Given the description of an element on the screen output the (x, y) to click on. 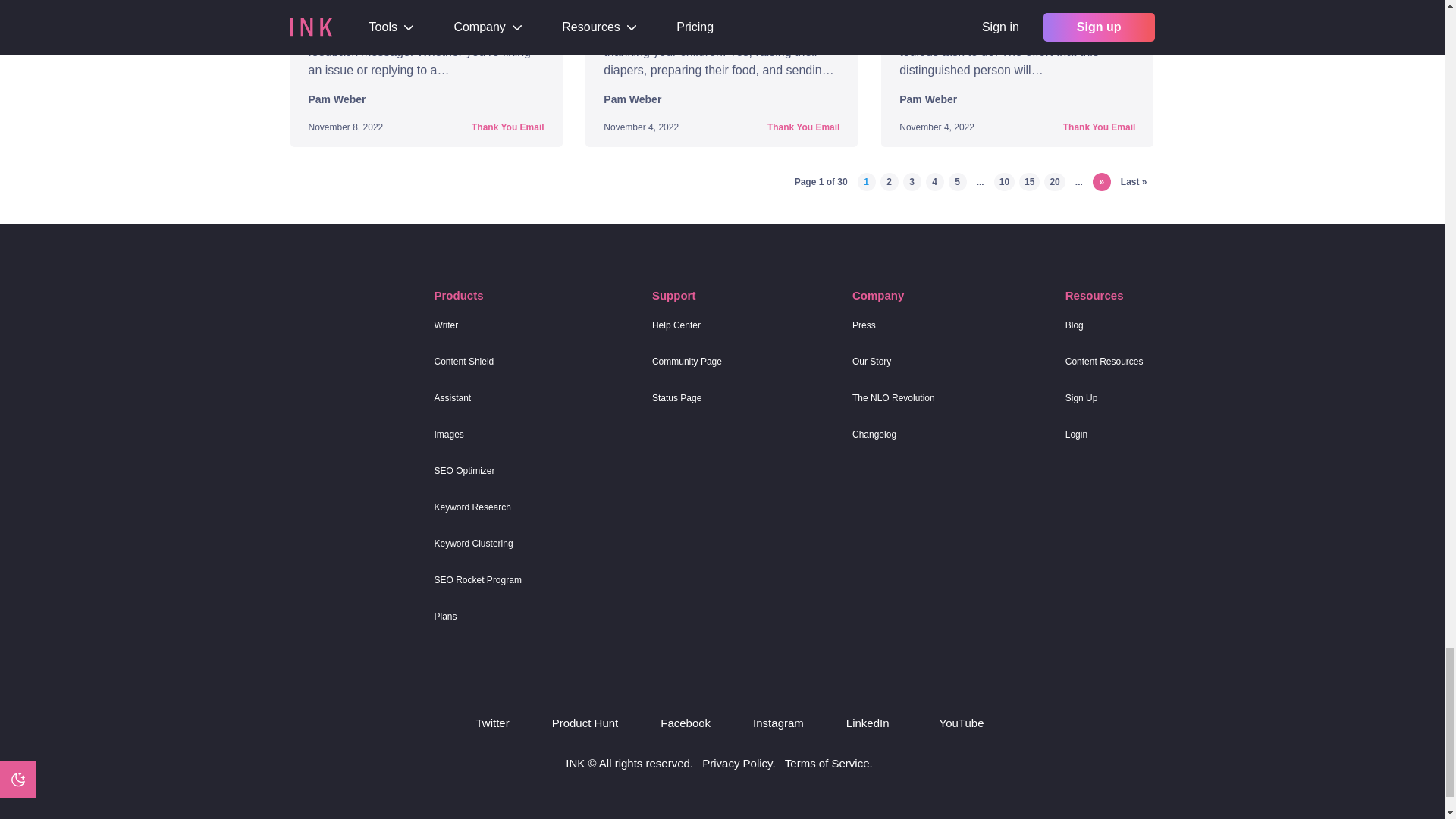
Page 20 (1053, 181)
Page 10 (1004, 181)
Page 2 (889, 181)
Page 3 (911, 181)
Page 15 (1029, 181)
Page 5 (957, 181)
Page 4 (934, 181)
